Given the description of an element on the screen output the (x, y) to click on. 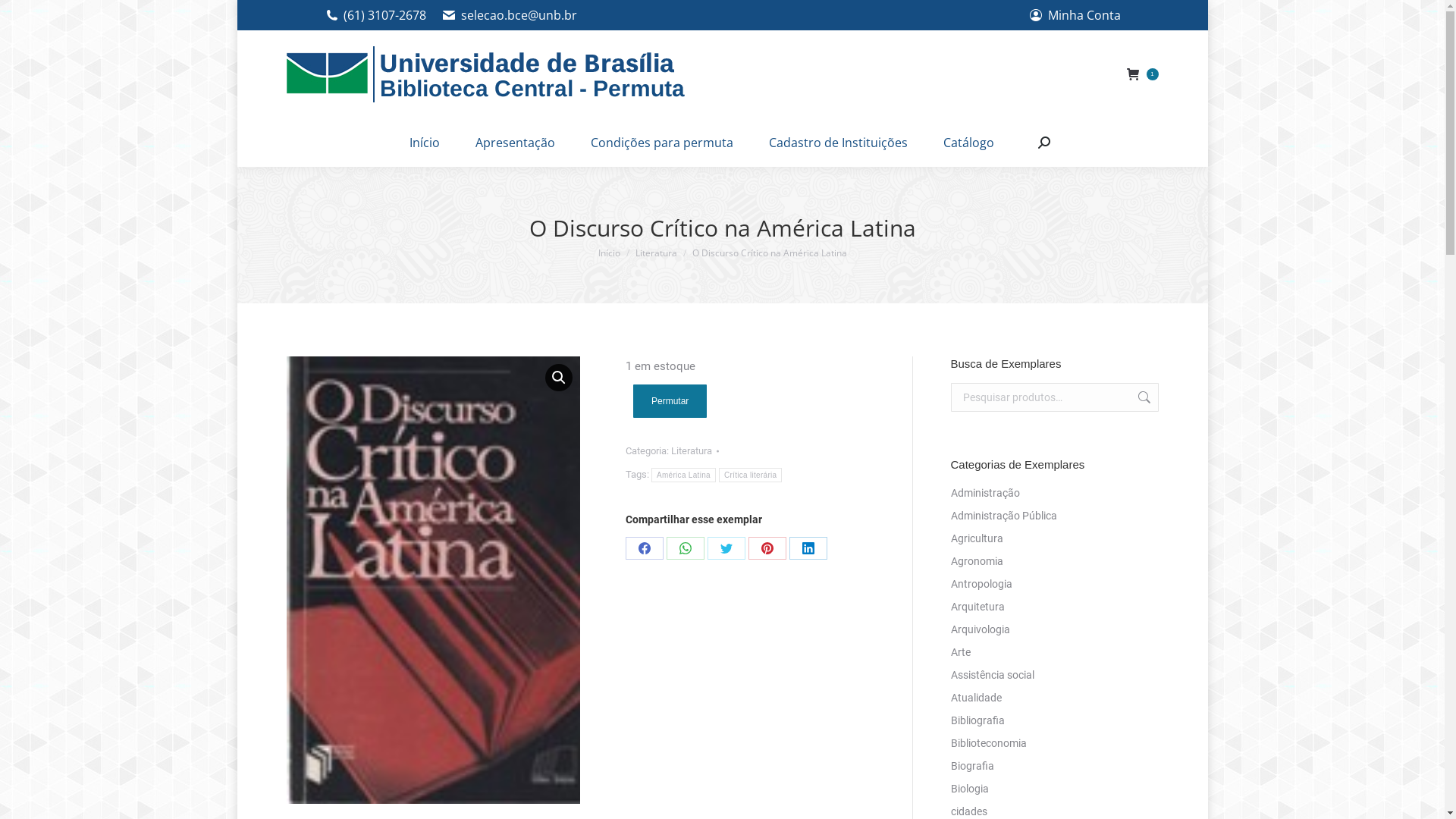
Agronomia Element type: text (976, 561)
Biblioteconomia Element type: text (988, 743)
Bibliografia Element type: text (977, 720)
1 Element type: text (1142, 74)
Literatura Element type: text (691, 450)
Go! Element type: text (22, 15)
Permutar Element type: text (669, 400)
Biografia Element type: text (972, 765)
Biologia Element type: text (969, 788)
Atualidade Element type: text (975, 697)
Arquitetura Element type: text (977, 606)
Arquivologia Element type: text (980, 629)
Pesquisar Element type: text (1141, 396)
Agricultura Element type: text (976, 538)
Minha Conta Element type: text (1074, 14)
Share on LinkedIn Element type: text (808, 547)
Share on Twitter Element type: text (726, 547)
Share on Facebook Element type: text (644, 547)
Arte Element type: text (960, 652)
Share on Pinterest Element type: text (767, 547)
Literatura Element type: text (656, 252)
Antropologia Element type: text (981, 583)
Share on WhatsApp Element type: text (685, 547)
_af0e813f85f04edc6fc12bbcc96c76f2525e078e Element type: hover (433, 579)
